Given the description of an element on the screen output the (x, y) to click on. 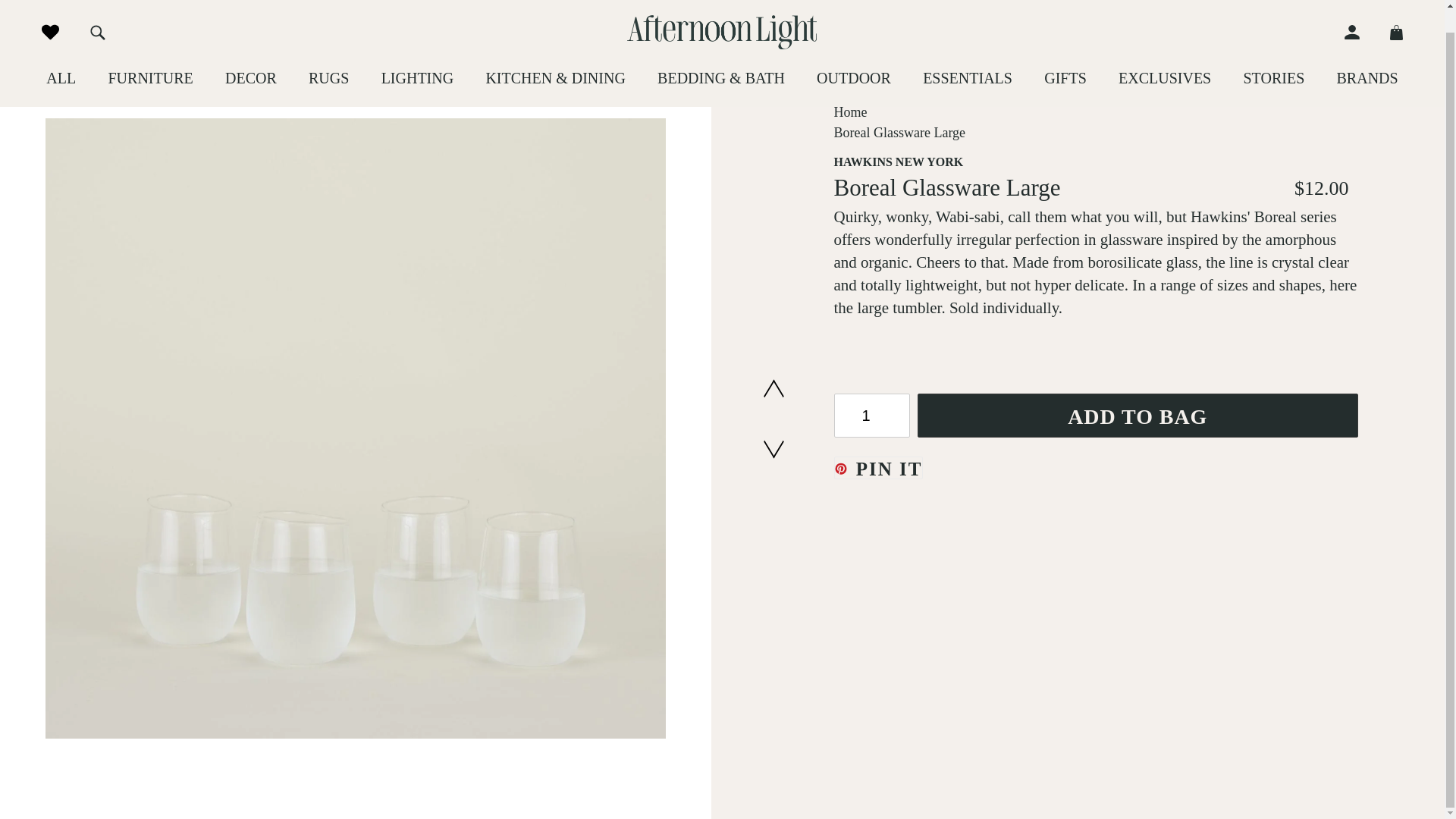
Cart (1388, 9)
1 (872, 415)
Log in (1358, 9)
ALL (60, 55)
FURNITURE (149, 55)
